Given the description of an element on the screen output the (x, y) to click on. 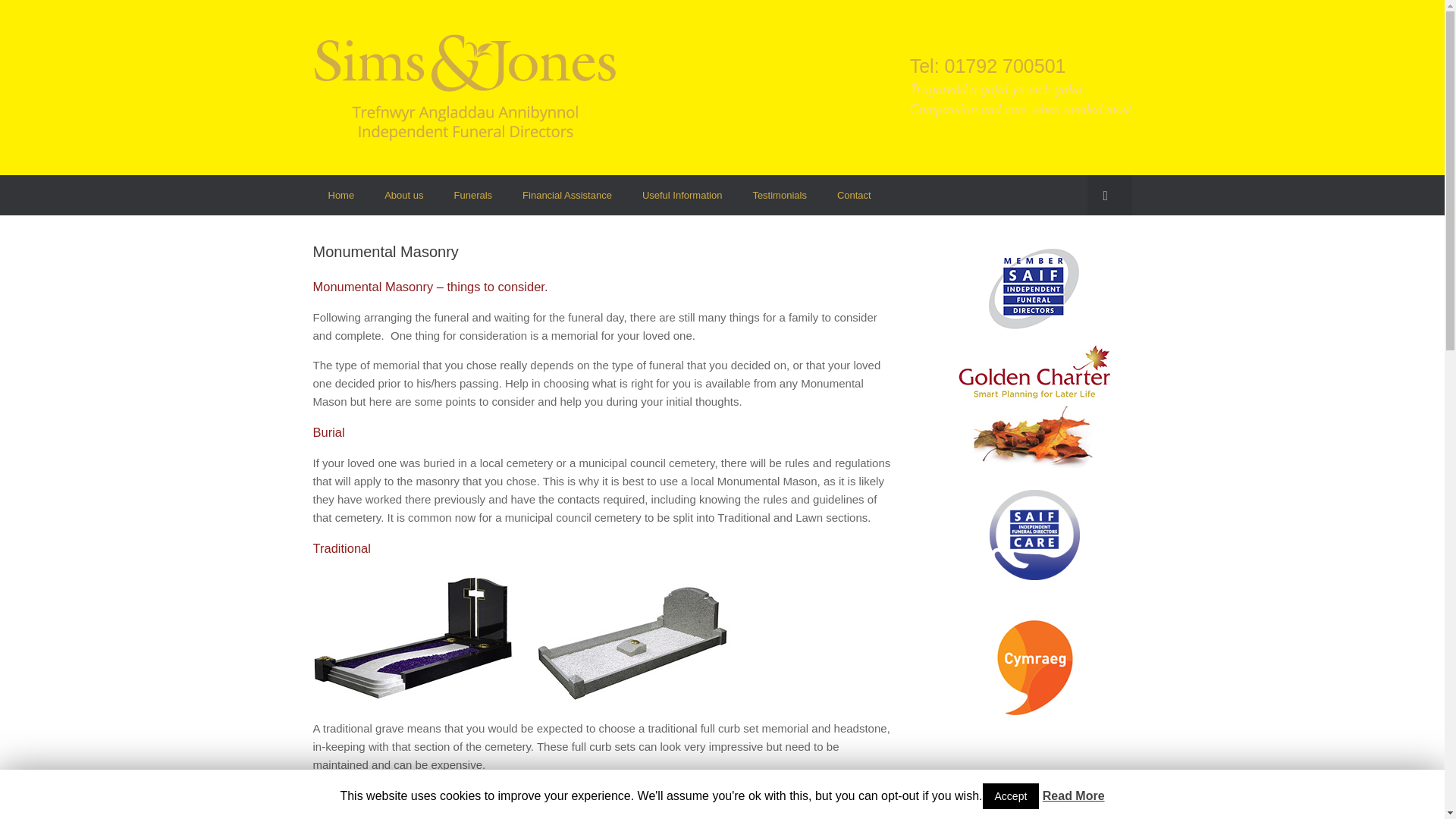
Funerals (473, 195)
Testimonials (779, 195)
Contact (854, 195)
Useful Information (682, 195)
About us (403, 195)
Financial Assistance (566, 195)
01792 700501 (1004, 65)
Home (341, 195)
